Given the description of an element on the screen output the (x, y) to click on. 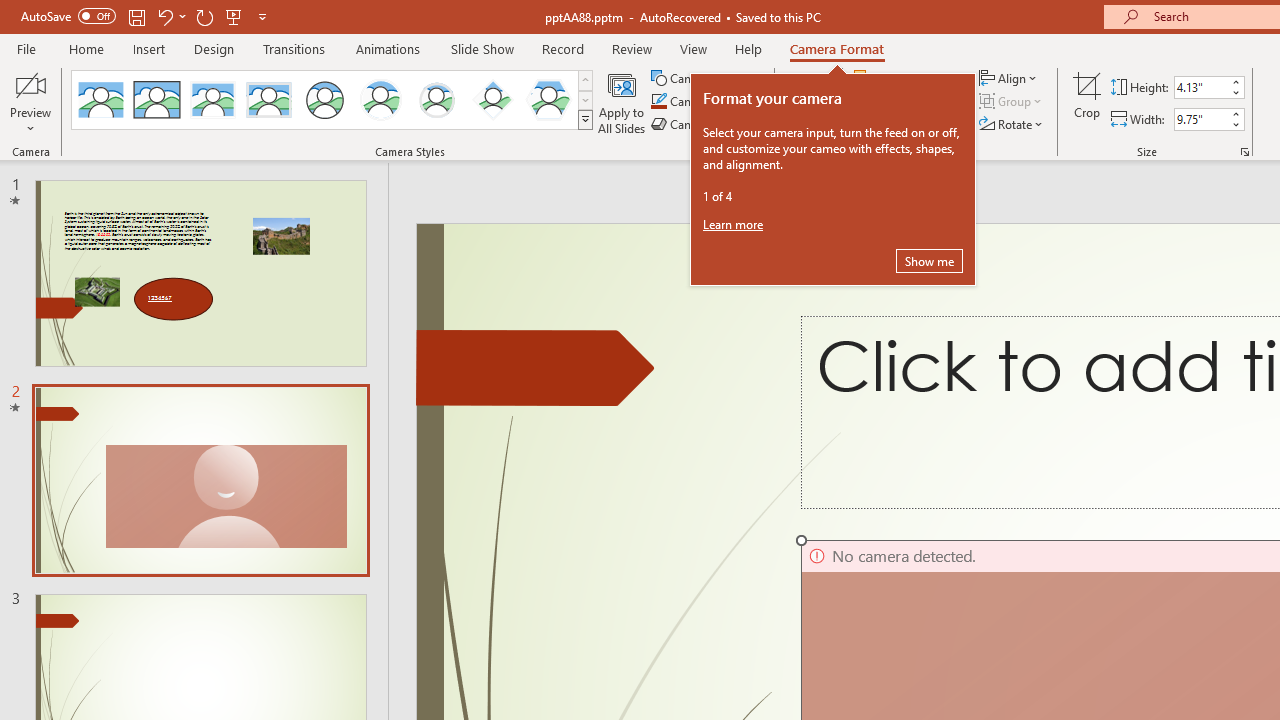
Bring Forward (910, 78)
Cameo Height (1201, 87)
Bring Forward (902, 78)
Size and Position... (1244, 151)
Camera Shape (705, 78)
Camera Border Teal, Accent 1 (658, 101)
Soft Edge Circle (436, 100)
Group (1012, 101)
